Given the description of an element on the screen output the (x, y) to click on. 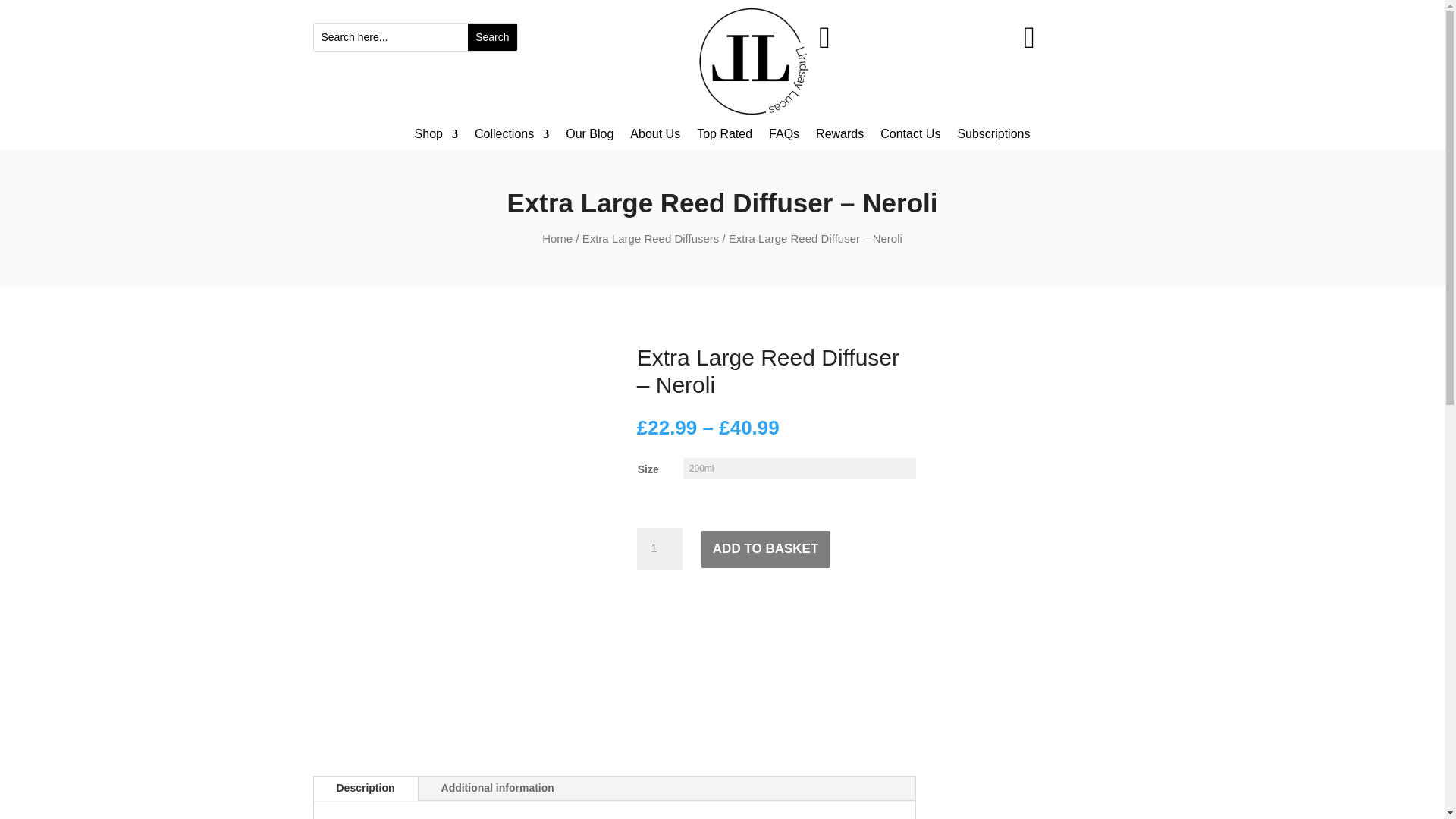
Neroli reed 1 (1029, 43)
Collections (511, 136)
1 (659, 548)
Shop (436, 136)
Search (491, 36)
Search (491, 36)
Neroli reed 1 (823, 43)
Search (491, 36)
